Given the description of an element on the screen output the (x, y) to click on. 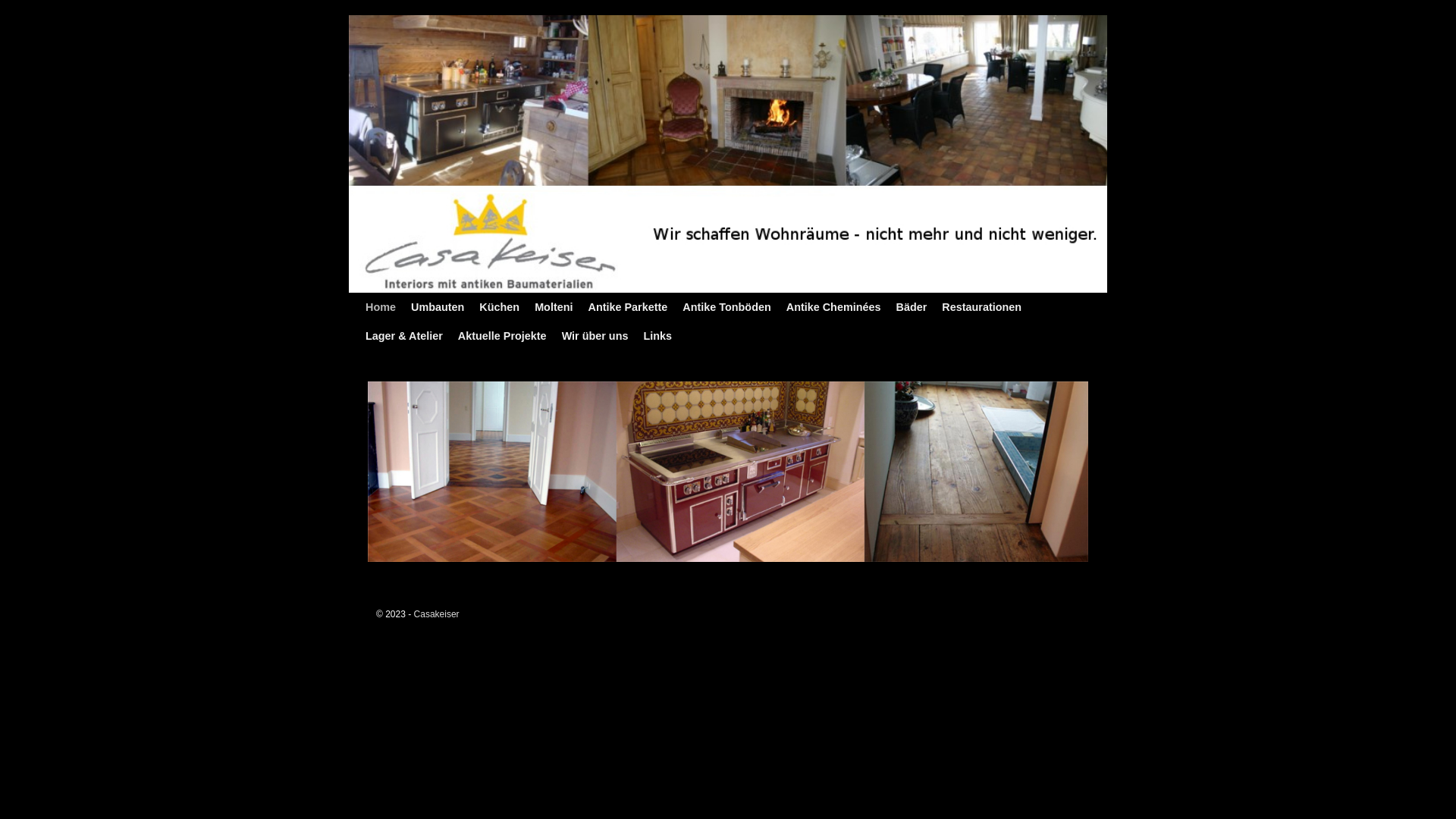
Links Element type: text (657, 335)
Zum Inhalt wechseln Element type: text (390, 299)
Casakeiser Element type: text (436, 613)
Home Element type: text (380, 306)
Molteni Element type: text (553, 306)
Antike Parkette Element type: text (627, 306)
Restaurationen Element type: text (981, 306)
Lager & Atelier Element type: text (403, 335)
Aktuelle Projekte Element type: text (502, 335)
Umbauten Element type: text (437, 306)
